Given the description of an element on the screen output the (x, y) to click on. 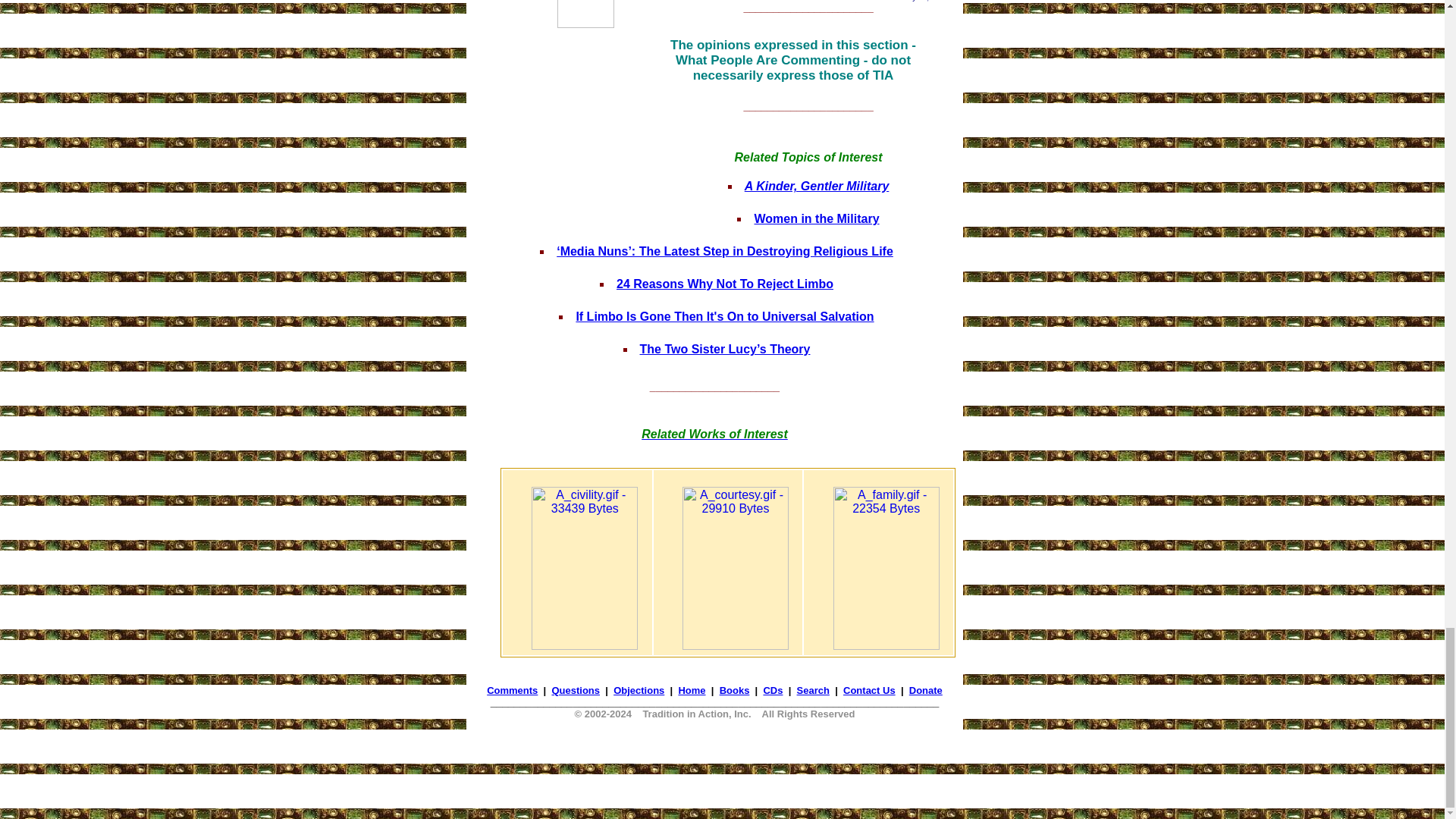
Women in the Military (816, 218)
24 Reasons Why Not To Reject Limbo (723, 283)
A Kinder, Gentler Military (816, 185)
